Given the description of an element on the screen output the (x, y) to click on. 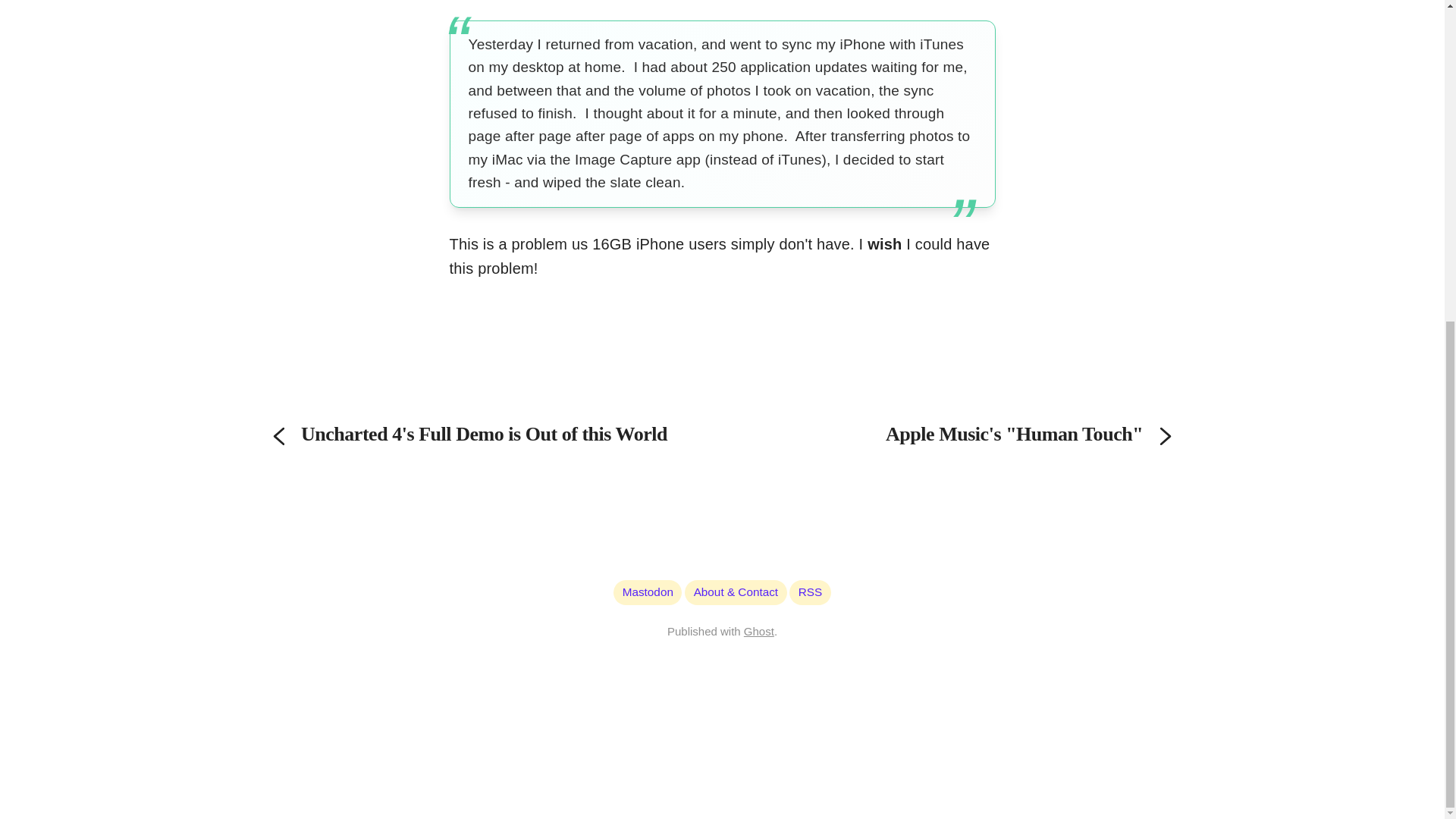
Mastodon (647, 592)
Ghost (759, 631)
Uncharted 4's Full Demo is Out of this World (480, 434)
RSS (809, 592)
Apple Music's "Human Touch" (963, 434)
